Given the description of an element on the screen output the (x, y) to click on. 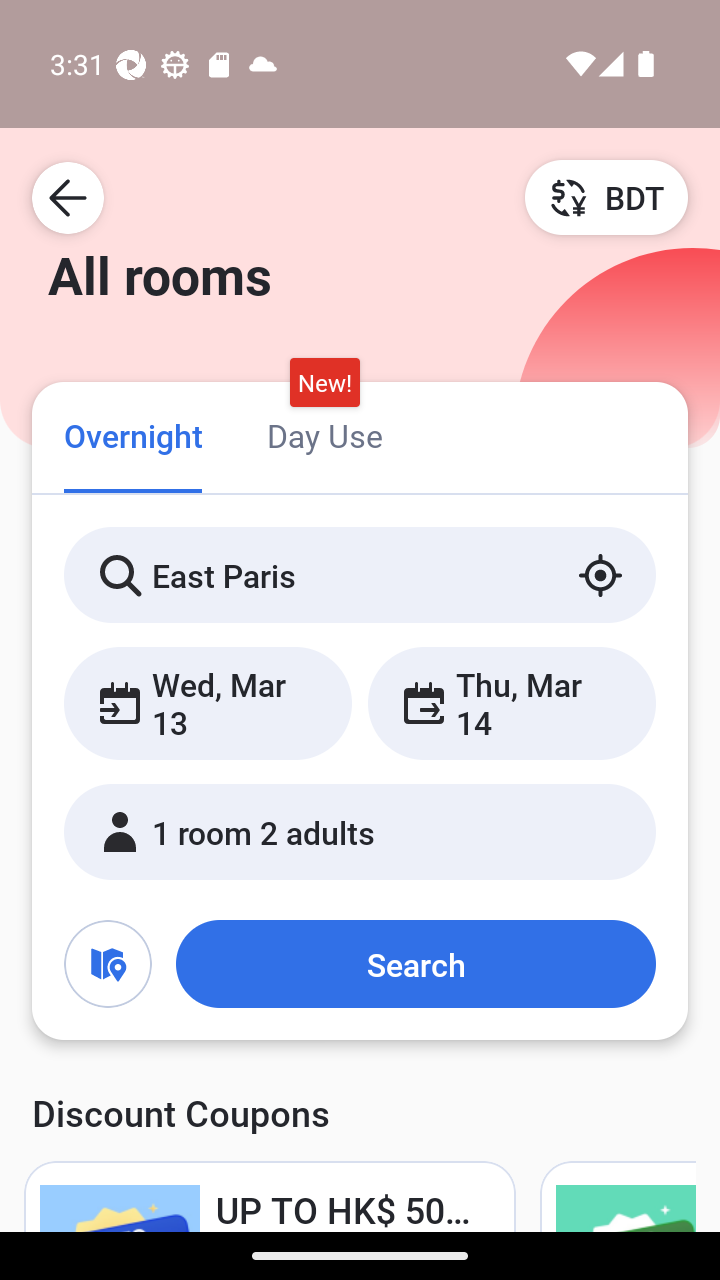
BDT (606, 197)
New! (324, 383)
Day Use (324, 434)
East Paris (359, 575)
Wed, Mar 13 (208, 703)
Thu, Mar 14 (511, 703)
1 room 2 adults (359, 831)
Search (415, 964)
